Given the description of an element on the screen output the (x, y) to click on. 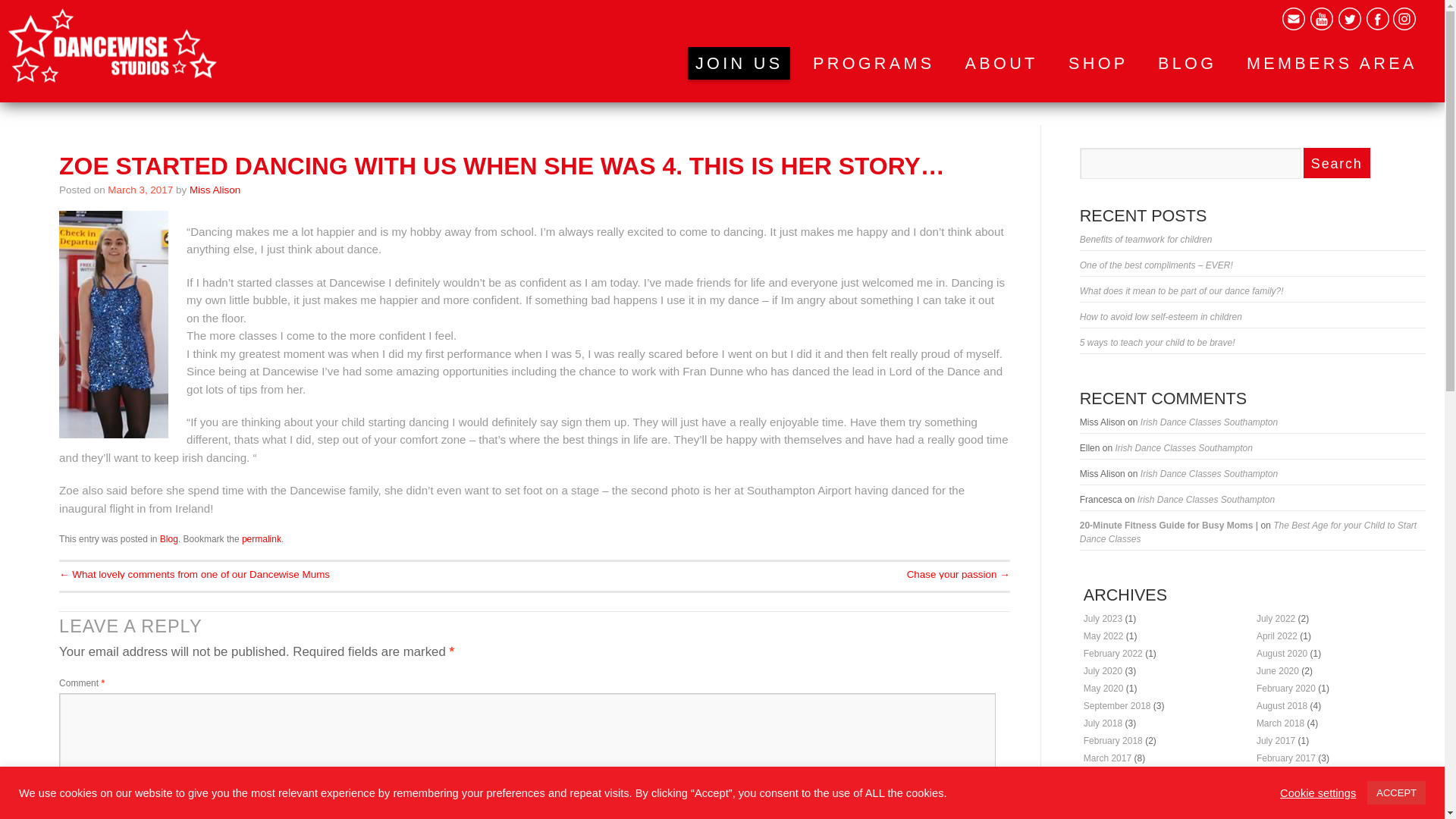
July 2023 (1102, 618)
logo link to home (111, 45)
link to instagram (1404, 18)
link to facebook (1378, 18)
link to youtube (1321, 18)
Blog (168, 538)
permalink (261, 538)
Search (1336, 163)
Benefits of teamwork for children (1146, 239)
ABOUT (1001, 62)
July 2022 (1275, 618)
View all posts by Miss Alison (214, 189)
Irish Dance Classes Southampton (1183, 448)
5 ways to teach your child to be brave! (1157, 342)
Irish Dance Classes Southampton (1209, 473)
